Given the description of an element on the screen output the (x, y) to click on. 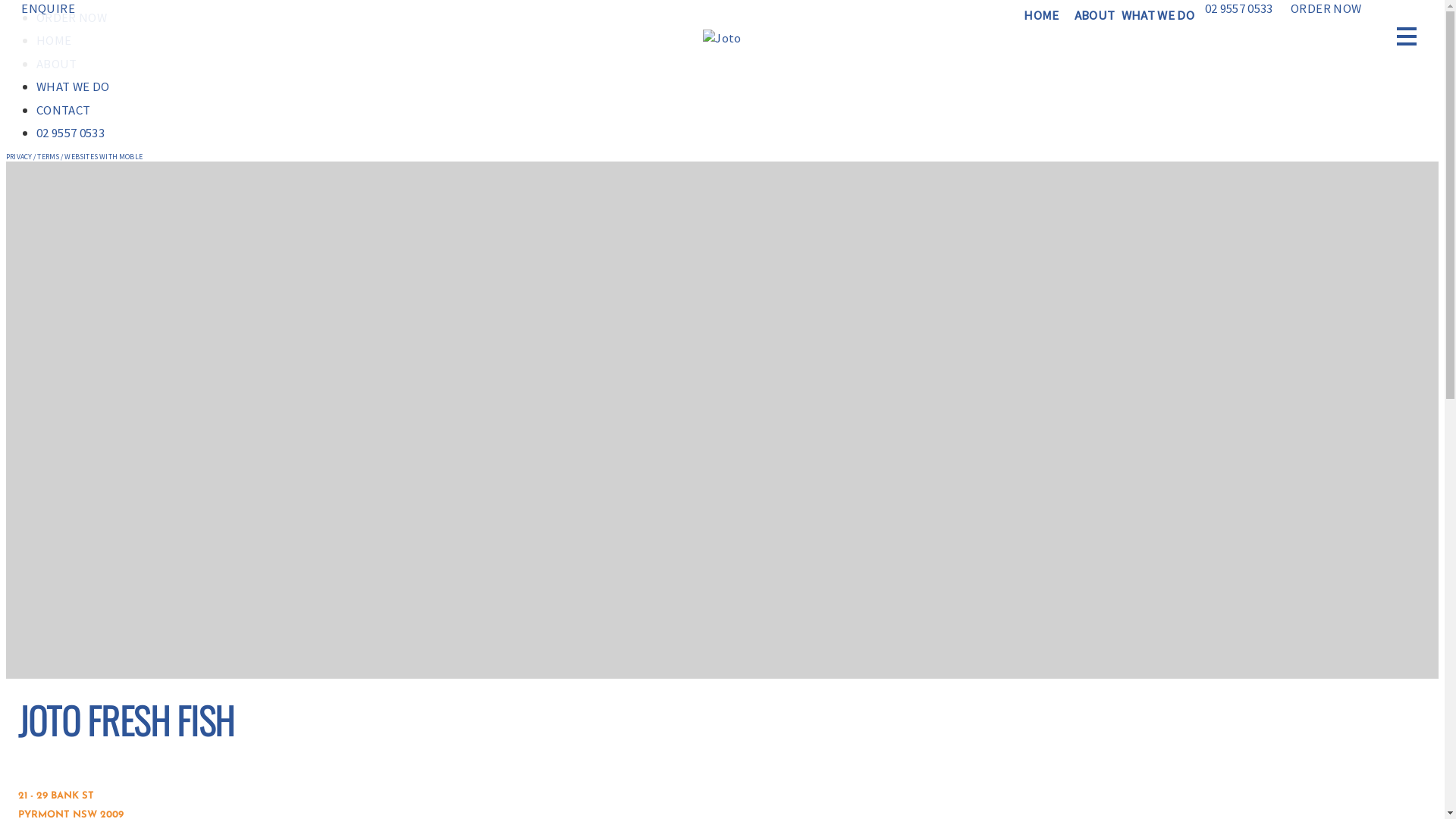
WHAT WE DO Element type: text (1157, 14)
ORDER NOW Element type: text (1323, 8)
TERMS Element type: text (48, 156)
HOME Element type: text (1040, 14)
ABOUT Element type: text (1094, 14)
ENQUIRE Element type: text (45, 8)
02 9557 0533 Element type: text (1235, 8)
ORDER NOW Element type: text (71, 17)
02 9557 0533 Element type: text (70, 132)
CONTACT Element type: text (63, 109)
WEBSITES WITH MOBLE Element type: text (103, 156)
PRIVACY Element type: text (18, 156)
WHAT WE DO Element type: text (72, 86)
HOME Element type: text (53, 39)
ABOUT Element type: text (56, 63)
